Given the description of an element on the screen output the (x, y) to click on. 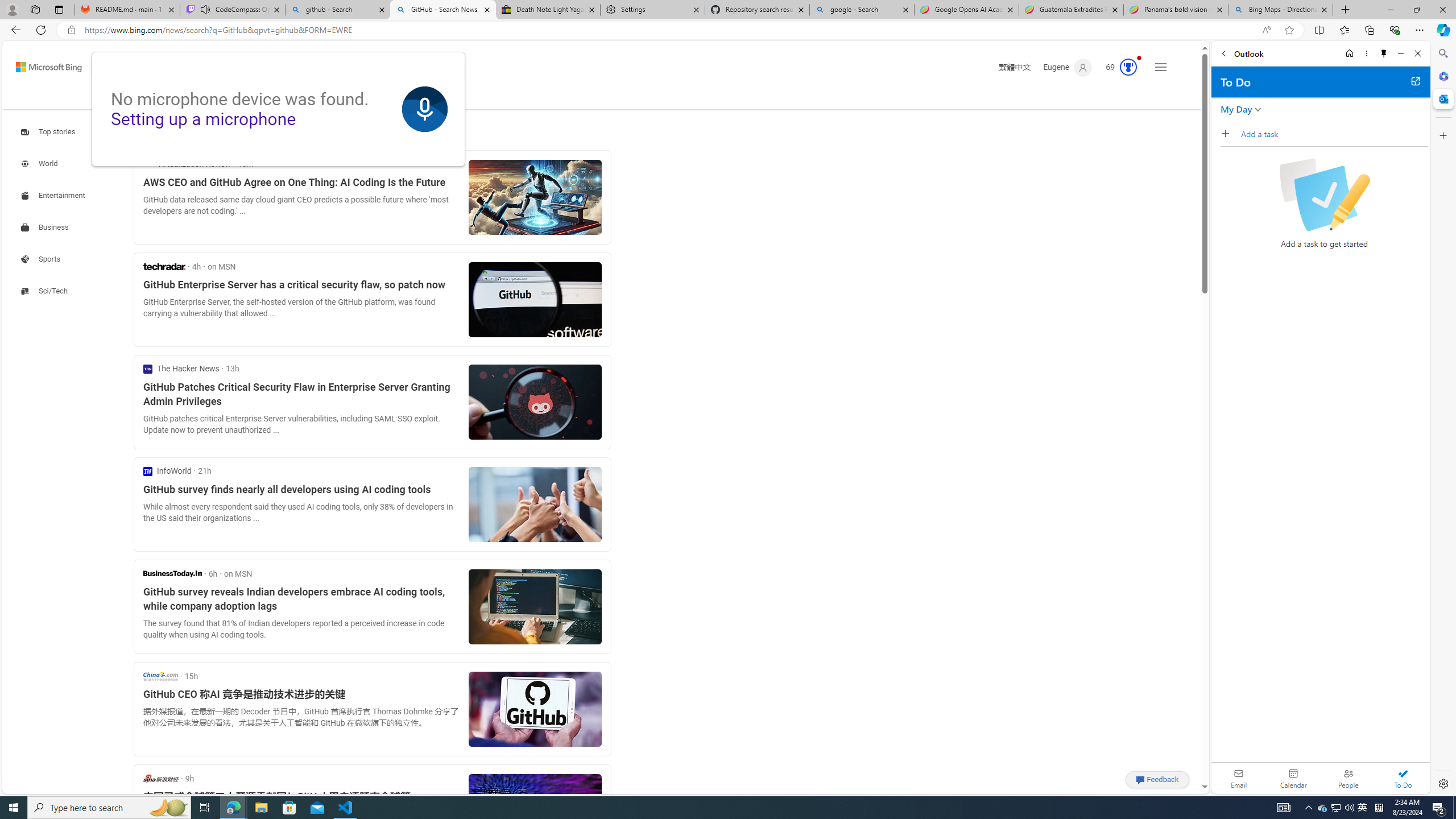
Settings and quick links (1160, 67)
Checkbox with a pencil (1324, 194)
App bar (728, 29)
Search news from The Hacker News (180, 368)
Stop listening (425, 109)
VIDEOS (268, 96)
Add this page to favorites (Ctrl+D) (1289, 29)
Add a task (1334, 133)
Collections (1369, 29)
Search news about Top stories (49, 132)
